Given the description of an element on the screen output the (x, y) to click on. 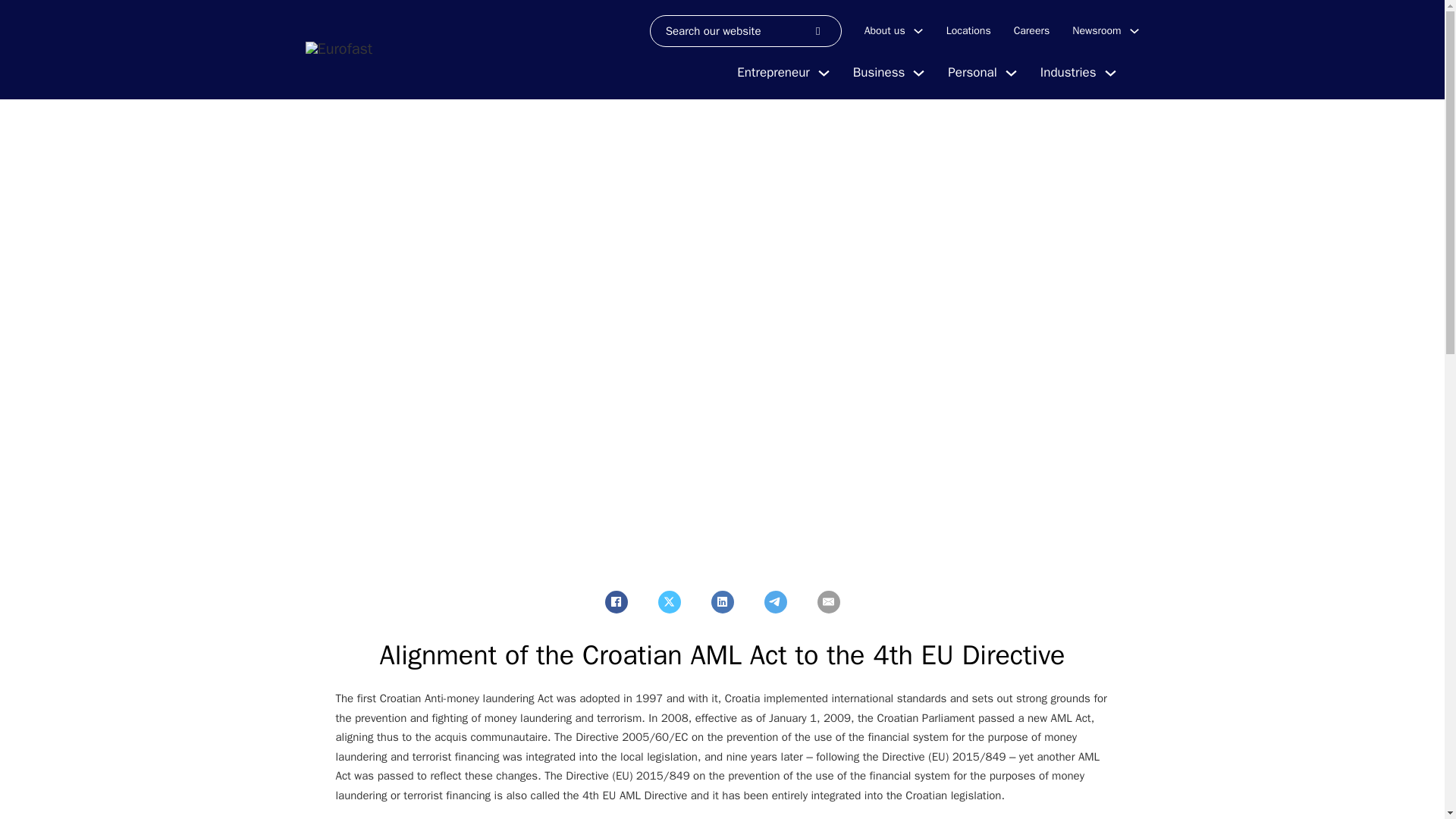
Entrepreneur (772, 73)
Newsroom (1096, 31)
Careers (1031, 31)
Locations (968, 31)
About us (884, 31)
